Given the description of an element on the screen output the (x, y) to click on. 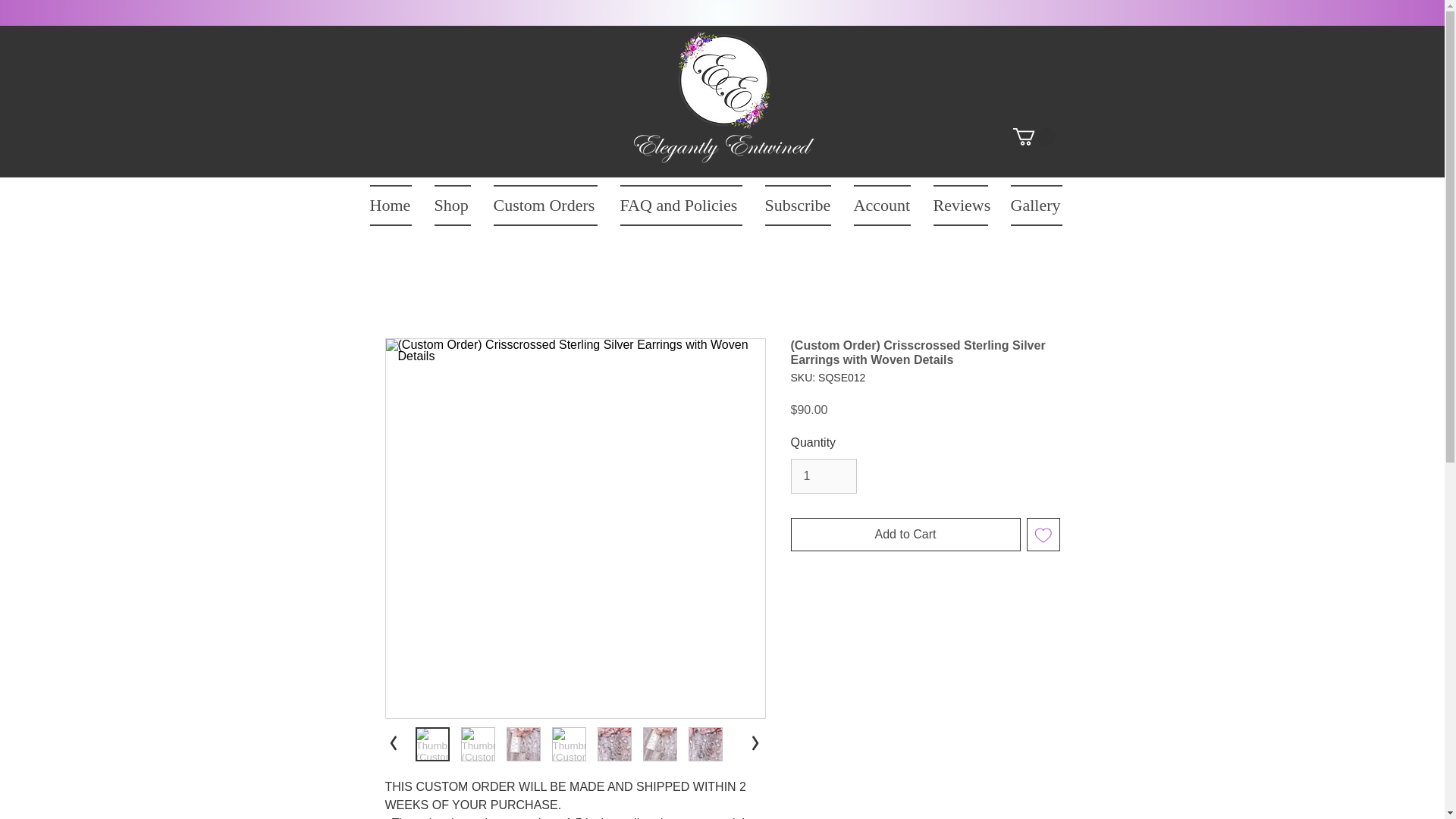
1 (823, 475)
Reviews (959, 205)
Home (396, 205)
FAQ and Policies (680, 205)
Gallery (1036, 205)
Shop (452, 205)
Subscribe (798, 205)
Add to Cart (905, 534)
